Given the description of an element on the screen output the (x, y) to click on. 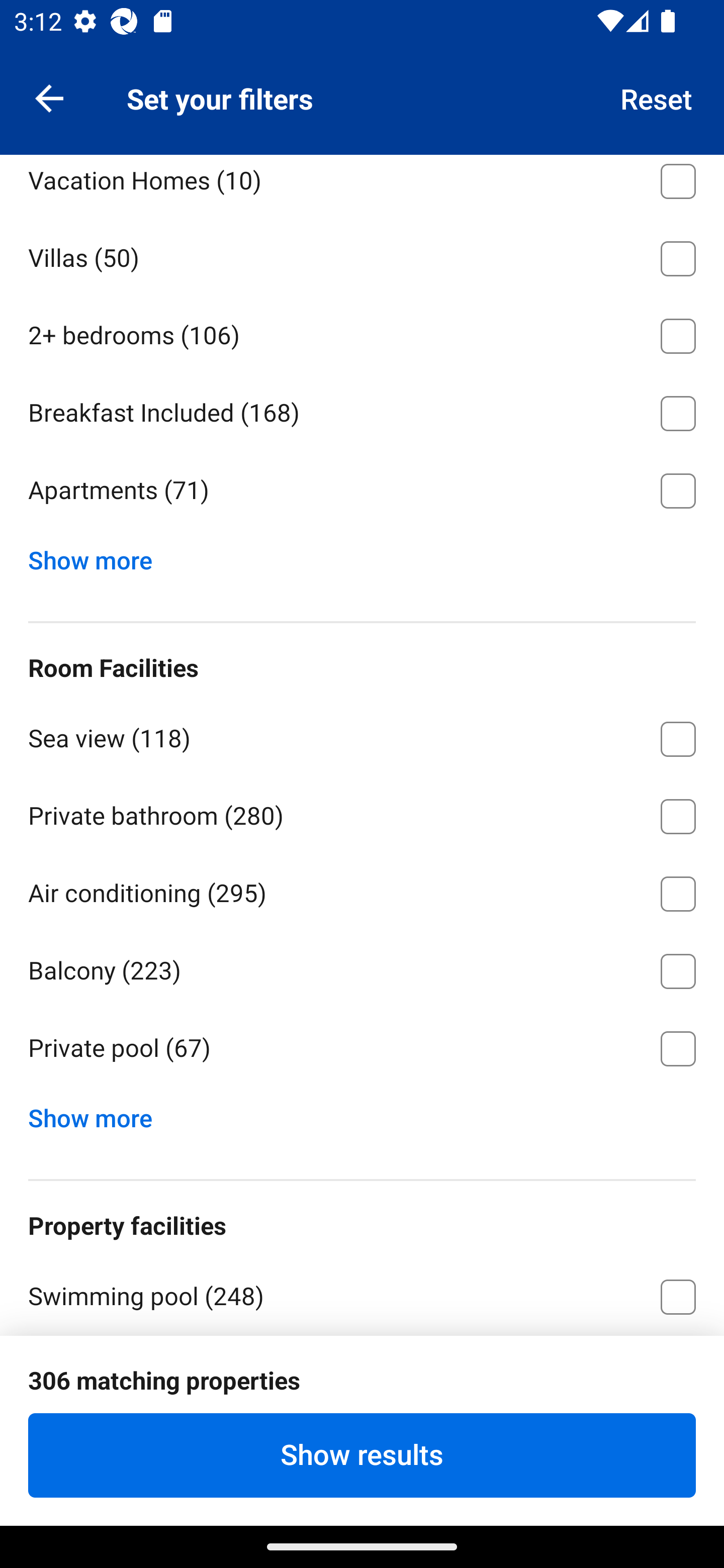
Navigate up (49, 97)
Reset (656, 97)
Vacation Homes ⁦(10) (361, 185)
Villas ⁦(50) (361, 255)
2+ bedrooms ⁦(106) (361, 332)
Breakfast Included ⁦(168) (361, 409)
Apartments ⁦(71) (361, 490)
Show more (97, 555)
Sea view ⁦(118) (361, 735)
Private bathroom ⁦(280) (361, 812)
Air conditioning ⁦(295) (361, 890)
Balcony ⁦(223) (361, 967)
Private pool ⁦(67) (361, 1048)
Show more (97, 1113)
Swimming pool ⁦(248) (361, 1293)
Show results (361, 1454)
